Given the description of an element on the screen output the (x, y) to click on. 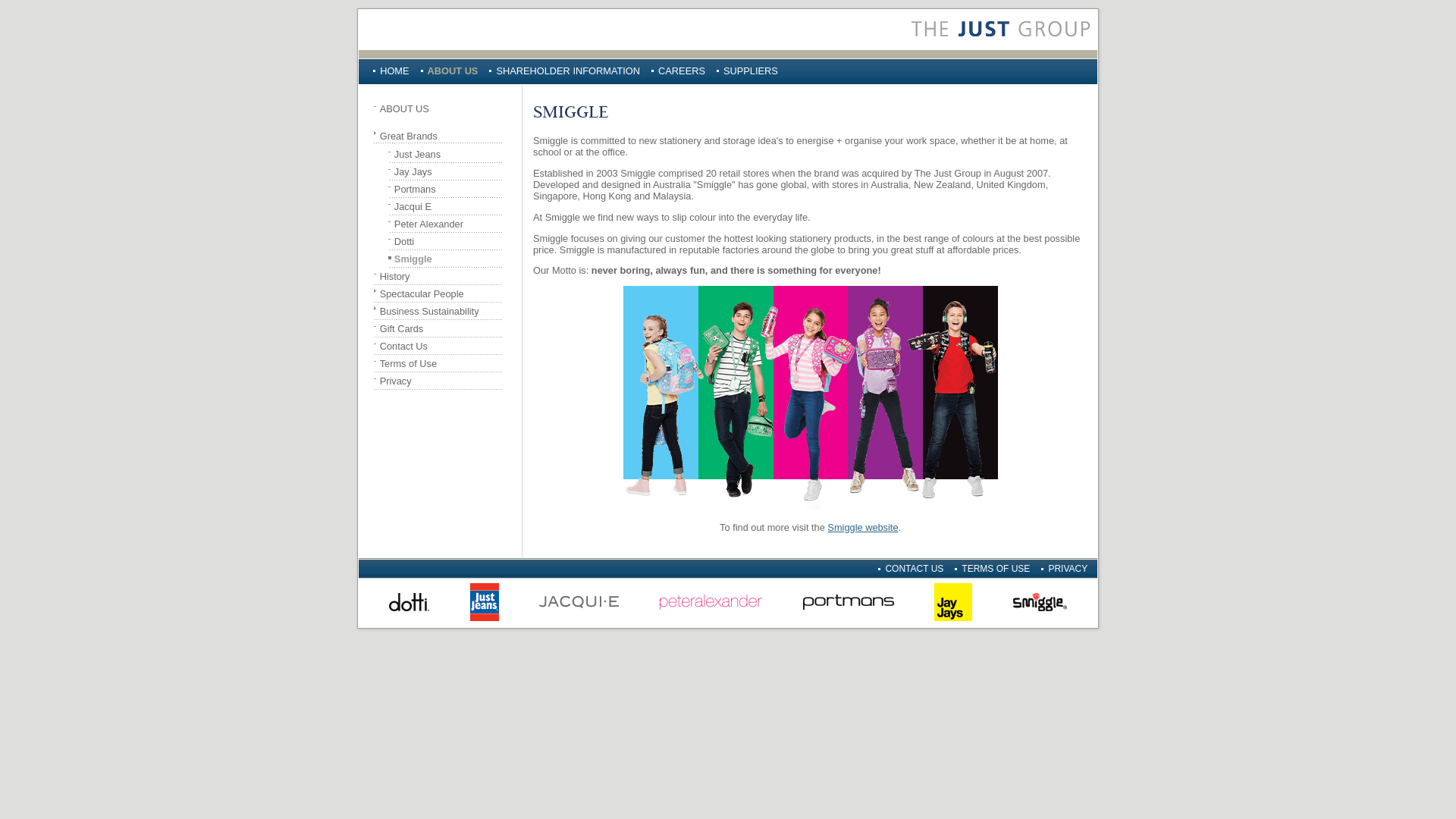
HOME Element type: text (393, 70)
www.dotti.com.au Element type: hover (409, 603)
ABOUT US Element type: text (452, 70)
SHAREHOLDER INFORMATION Element type: text (567, 70)
Portmans Element type: text (448, 188)
Smiggle website Element type: text (862, 527)
TERMS OF USE Element type: text (995, 568)
Great Brands Element type: text (440, 135)
Jay Jays Element type: text (448, 171)
CAREERS Element type: text (681, 70)
Business Sustainability Element type: text (440, 311)
The Just Group Homepage Element type: hover (1000, 44)
Terms of Use Element type: text (440, 363)
www.peteralexander.com.au Element type: hover (710, 603)
Just Jeans Element type: text (448, 154)
The Just Group - Homepage Element type: hover (1000, 28)
History Element type: text (440, 276)
SUPPLIERS Element type: text (750, 70)
Contact Us Element type: text (440, 345)
www.jacquie.com.au Element type: hover (578, 603)
ABOUT US Element type: text (440, 108)
www.jayjays.com.au Element type: hover (953, 603)
www.justjeans.com.au Element type: hover (484, 603)
PRIVACY Element type: text (1067, 568)
www.portmans.com.au Element type: hover (848, 603)
CONTACT US Element type: text (913, 568)
Gift Cards Element type: text (440, 328)
Privacy Element type: text (440, 380)
Smiggle Element type: text (448, 258)
Jacqui E Element type: text (448, 206)
Peter Alexander Element type: text (448, 223)
Spectacular People Element type: text (440, 293)
Dotti Element type: text (448, 241)
www.smiggle.com.au Element type: hover (1039, 603)
